Given the description of an element on the screen output the (x, y) to click on. 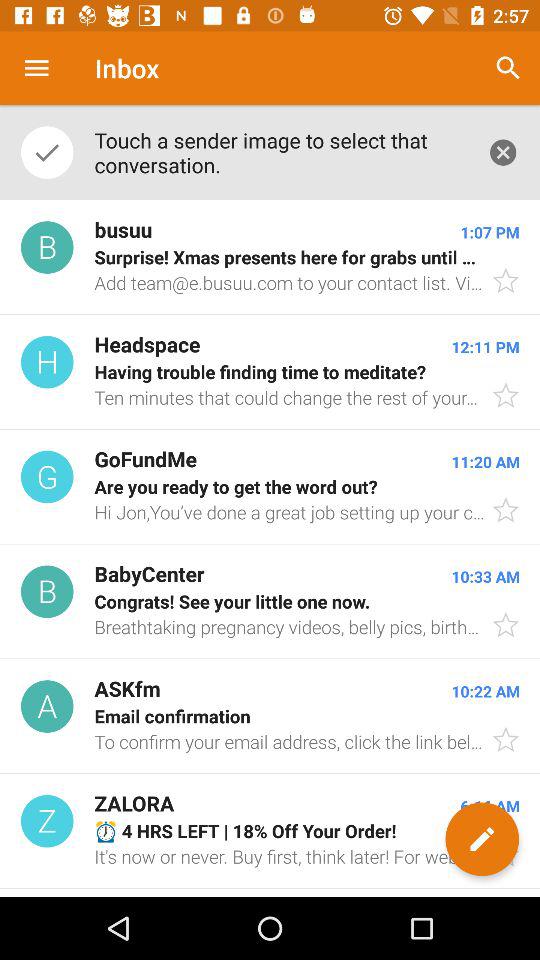
turn on the icon below touch a sender (270, 257)
